Given the description of an element on the screen output the (x, y) to click on. 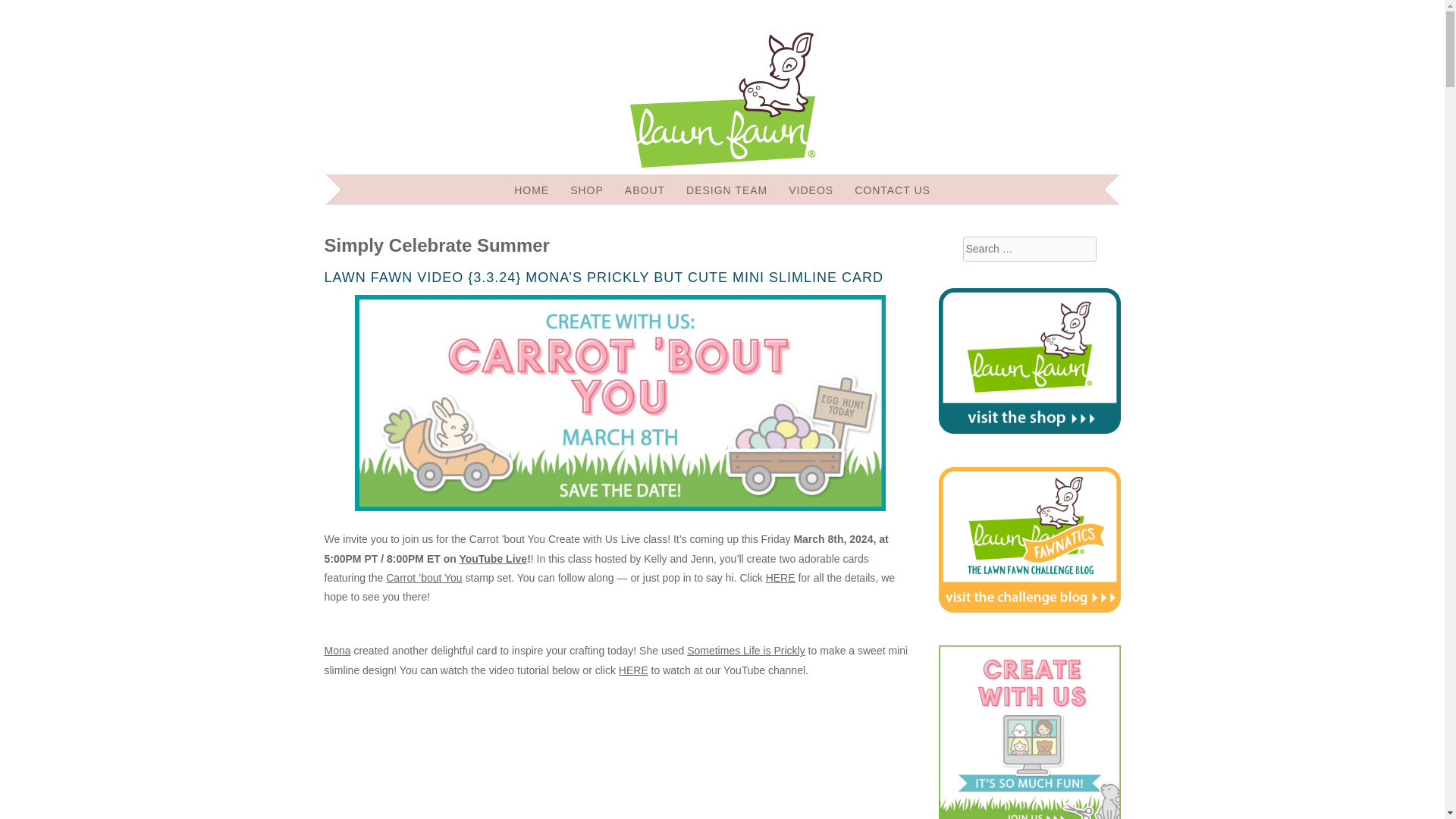
DESIGN TEAM (726, 190)
VIDEOS (810, 190)
CONTACT US (892, 190)
HOME (530, 190)
Mona (337, 650)
YouTube Live (492, 558)
LAWN FAWN (467, 61)
SHOP (587, 190)
Sometimes Life is Prickly (746, 650)
